Given the description of an element on the screen output the (x, y) to click on. 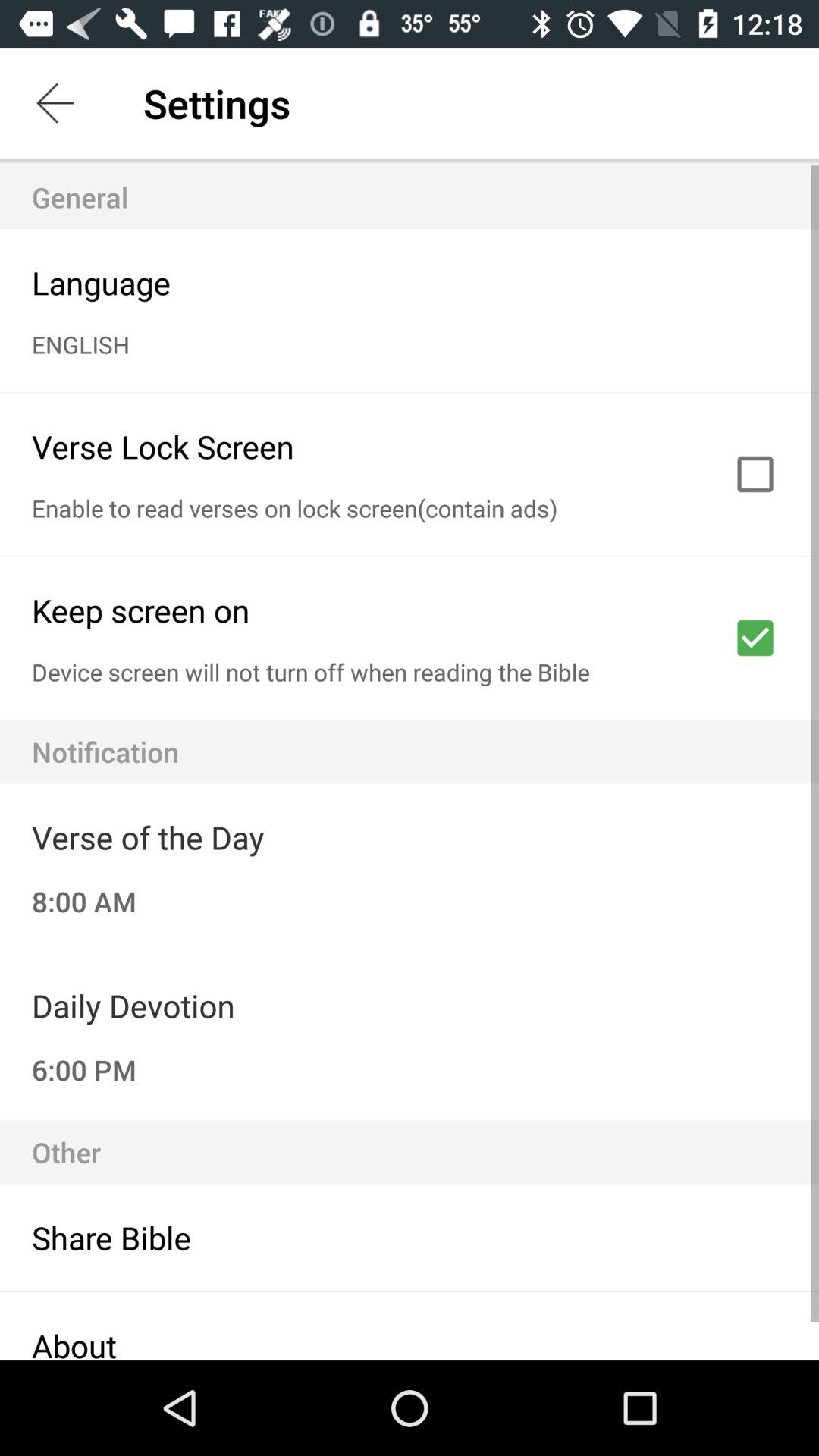
check on verse lock screen option box (755, 474)
